Given the description of an element on the screen output the (x, y) to click on. 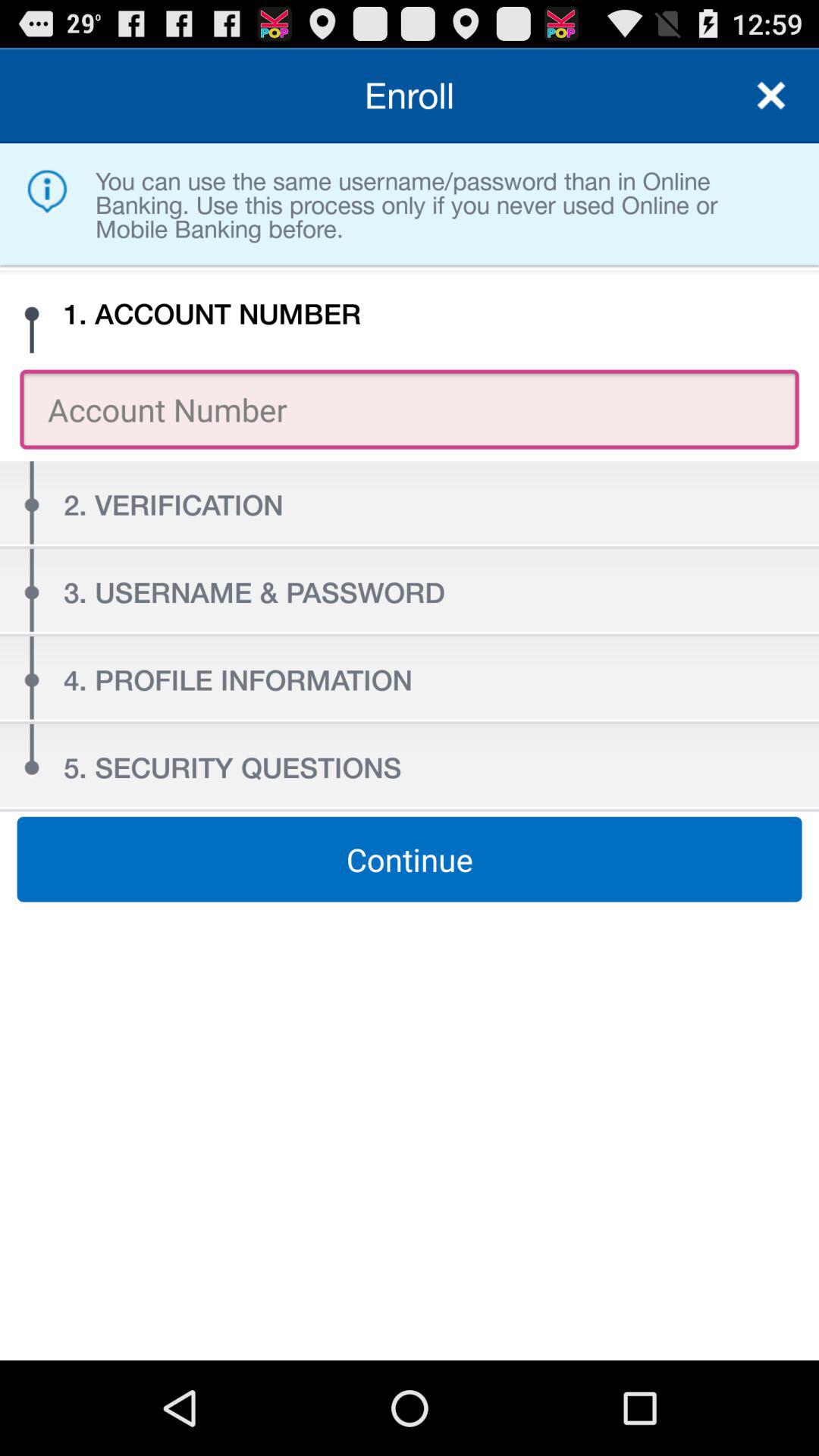
add account number enter account number (409, 409)
